Given the description of an element on the screen output the (x, y) to click on. 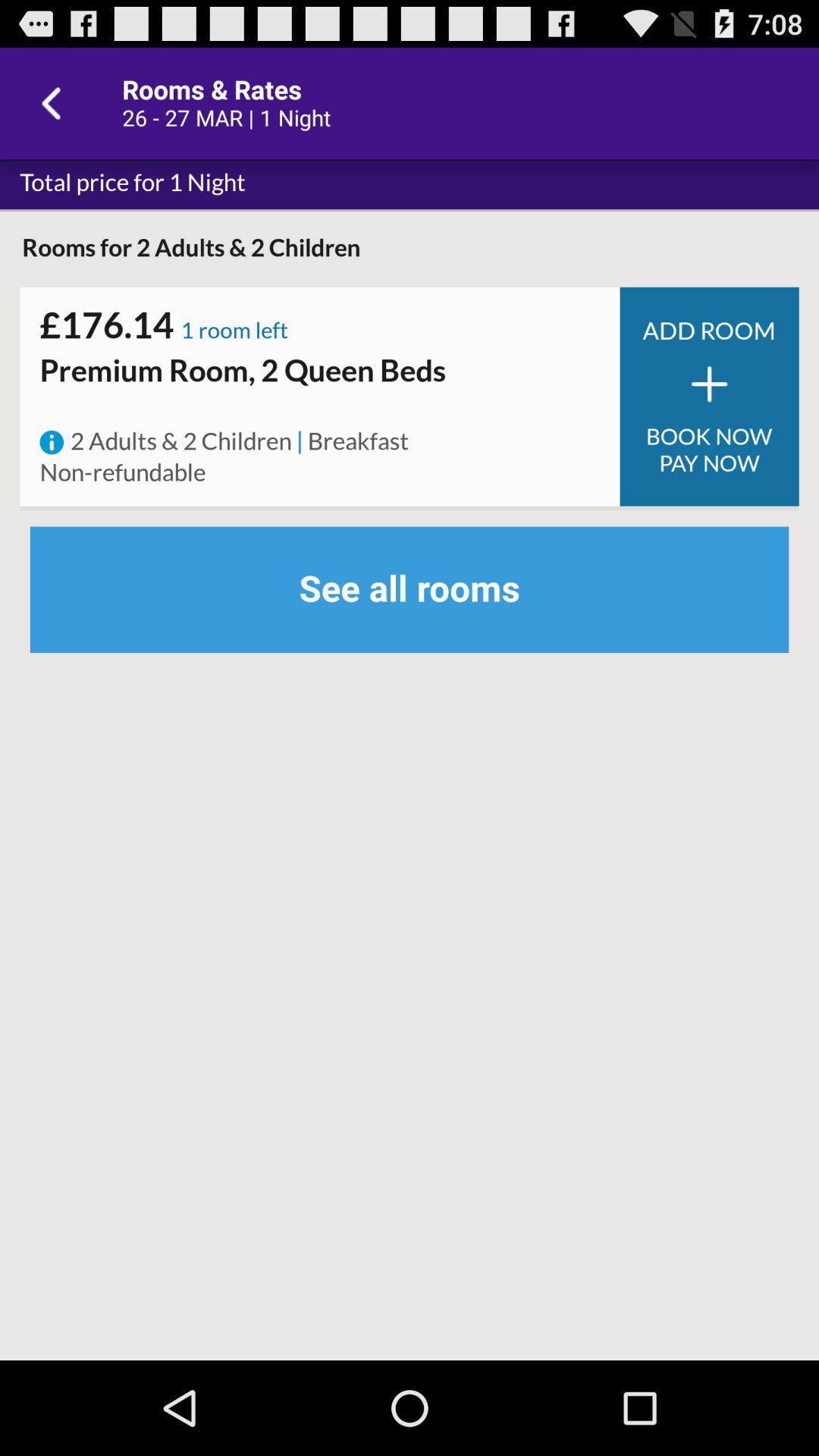
tap the icon above the see all rooms icon (299, 442)
